Given the description of an element on the screen output the (x, y) to click on. 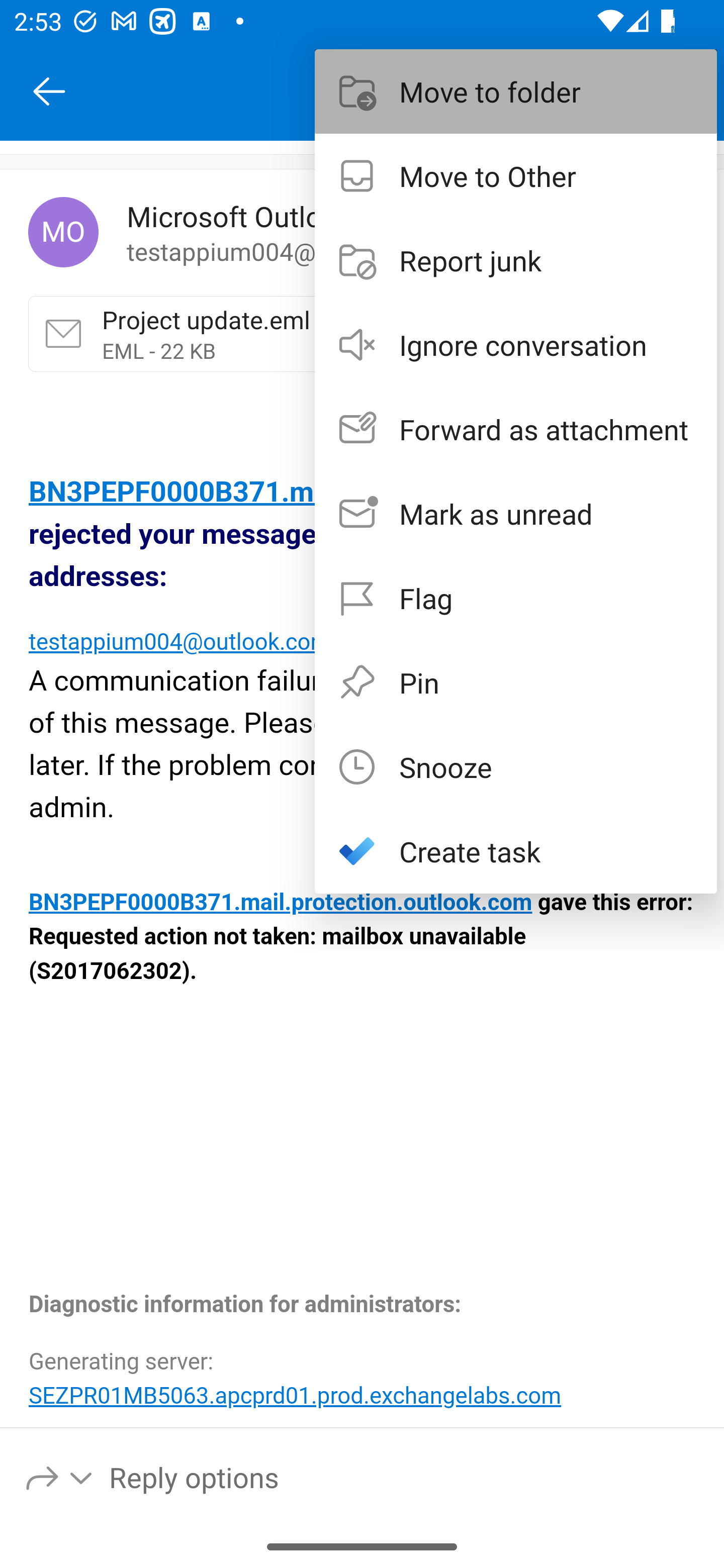
Move to folder (515, 90)
Move to Other (515, 175)
Report junk (515, 259)
Ignore conversation (515, 344)
Forward as attachment (515, 429)
Mark as unread (515, 513)
Flag (515, 597)
Pin (515, 681)
Snooze (515, 766)
Create task (515, 851)
